Given the description of an element on the screen output the (x, y) to click on. 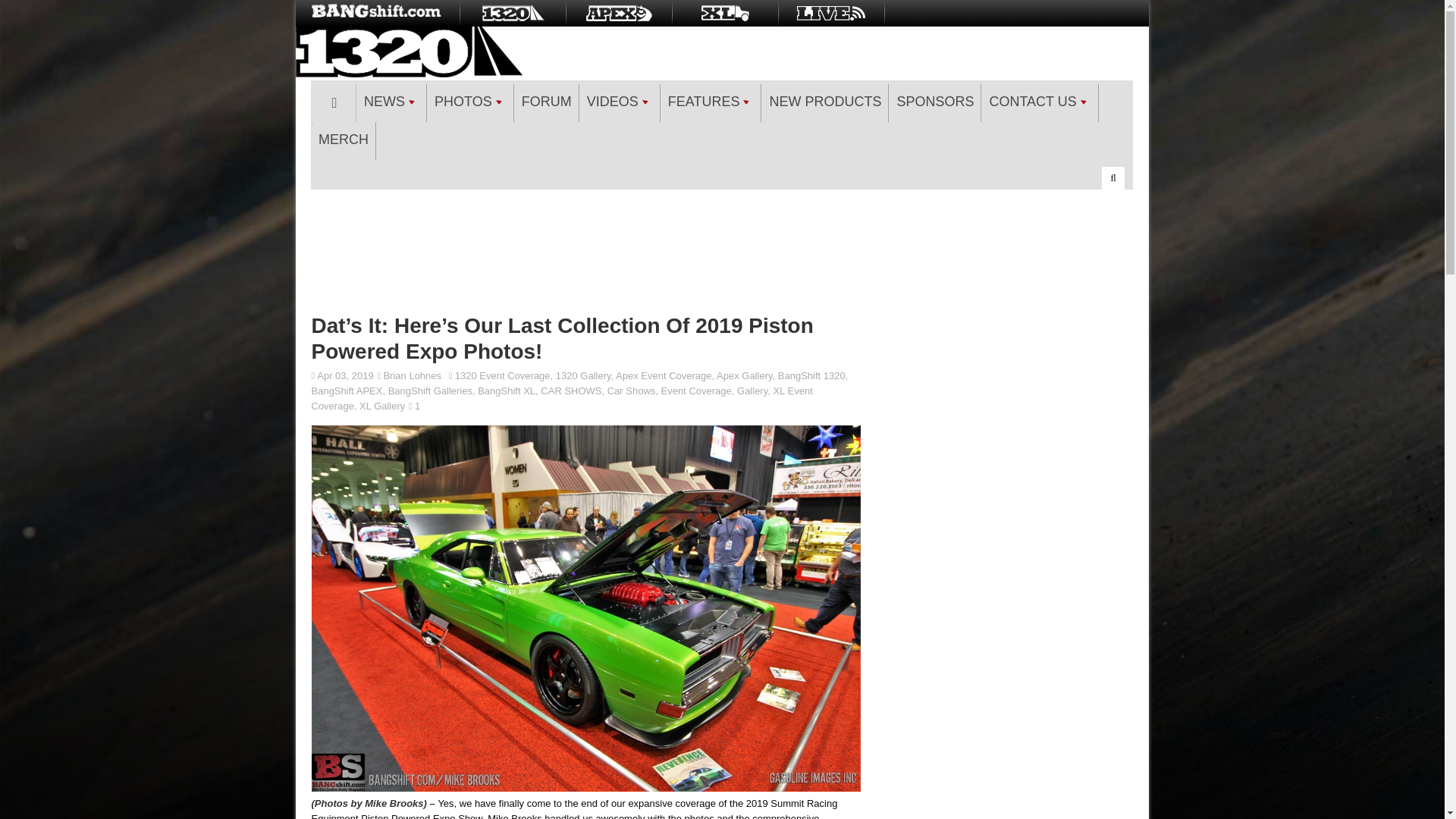
PHOTOS (469, 103)
BangShiftAPEX (618, 13)
BangShift.com (377, 13)
NEWS (391, 103)
Posts by Brian Lohnes (411, 375)
LIVE (831, 13)
3rd party ad content (721, 249)
BangShiftXL (724, 13)
BangShift1320 (512, 13)
